Given the description of an element on the screen output the (x, y) to click on. 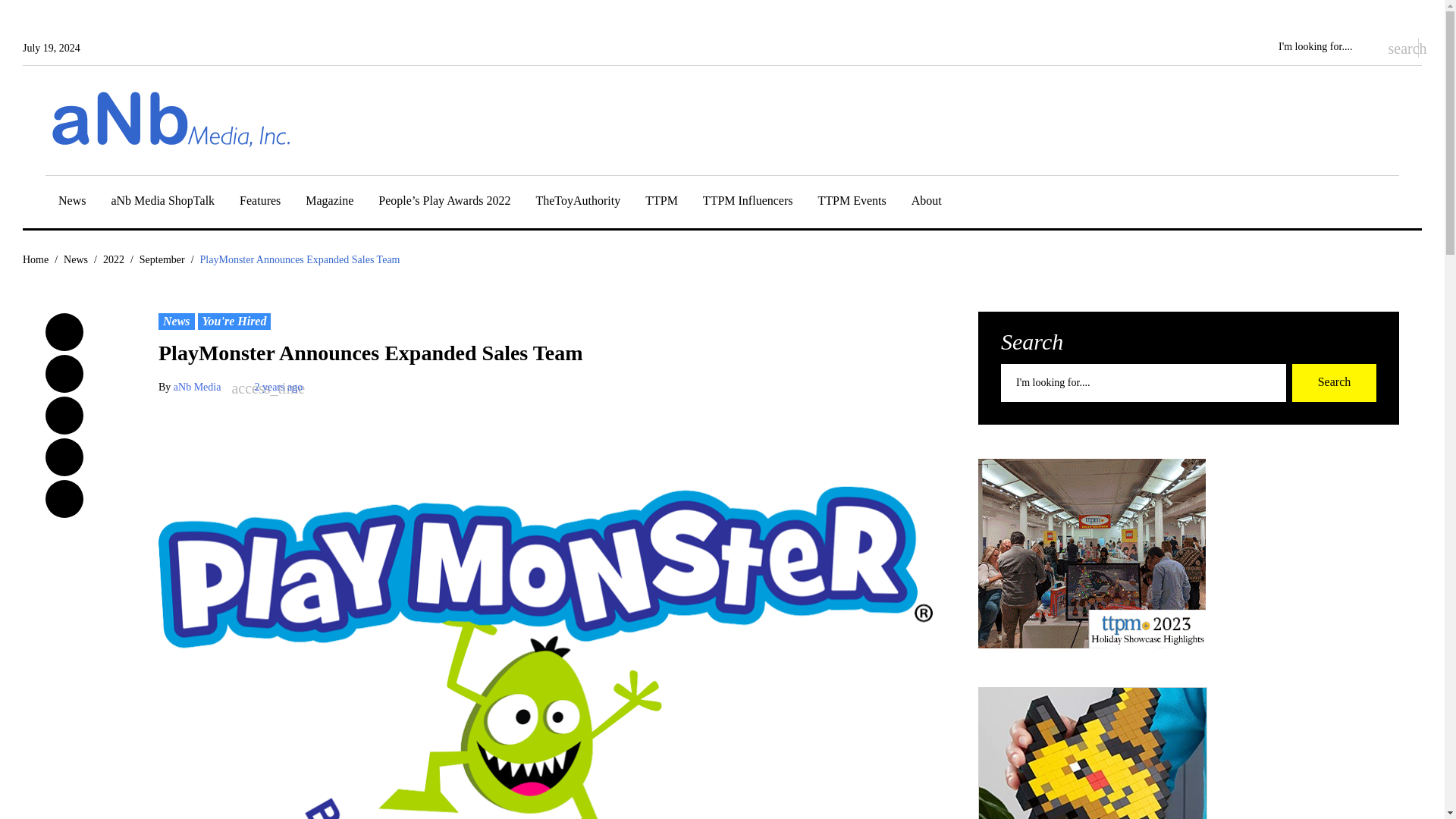
Search for: (1324, 47)
aNb Media ShopTalk (162, 203)
TTPM Events (852, 203)
TTPM (660, 203)
News (72, 203)
Magazine (329, 203)
News (72, 203)
About (926, 203)
Magazine (329, 203)
Features (260, 203)
TheToyAuthority (577, 203)
TTPM Influencers (748, 203)
Features (260, 203)
search (1395, 46)
aNb Media ShopTalk (162, 203)
